Given the description of an element on the screen output the (x, y) to click on. 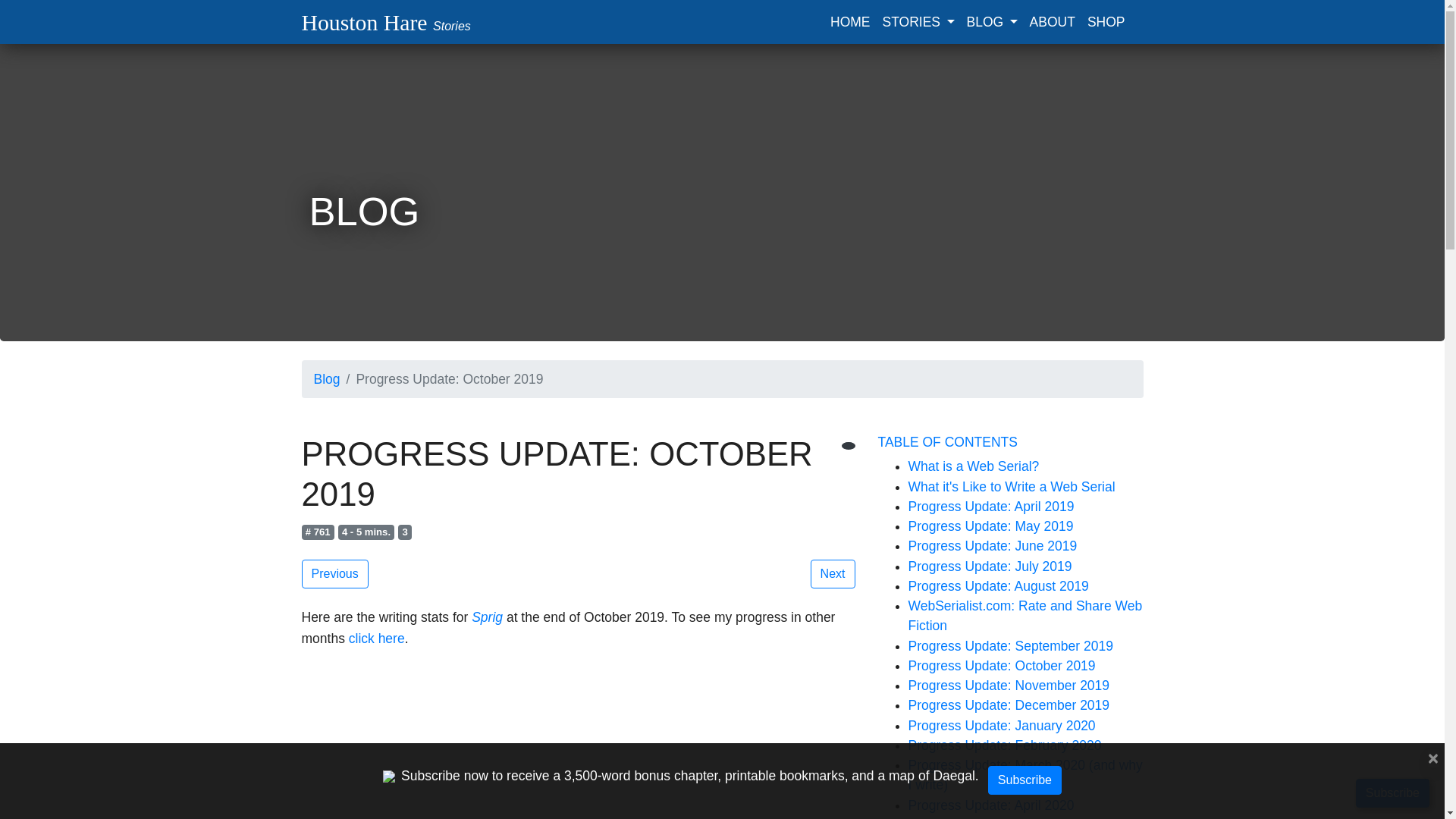
Sprig (486, 616)
STORIES (908, 21)
Blog (327, 378)
Word Count (317, 531)
Dark Mode (848, 445)
HOME (850, 21)
BLOG (981, 21)
Search (1136, 11)
Houston Hare Stories (385, 21)
Subscribe (1392, 792)
